Given the description of an element on the screen output the (x, y) to click on. 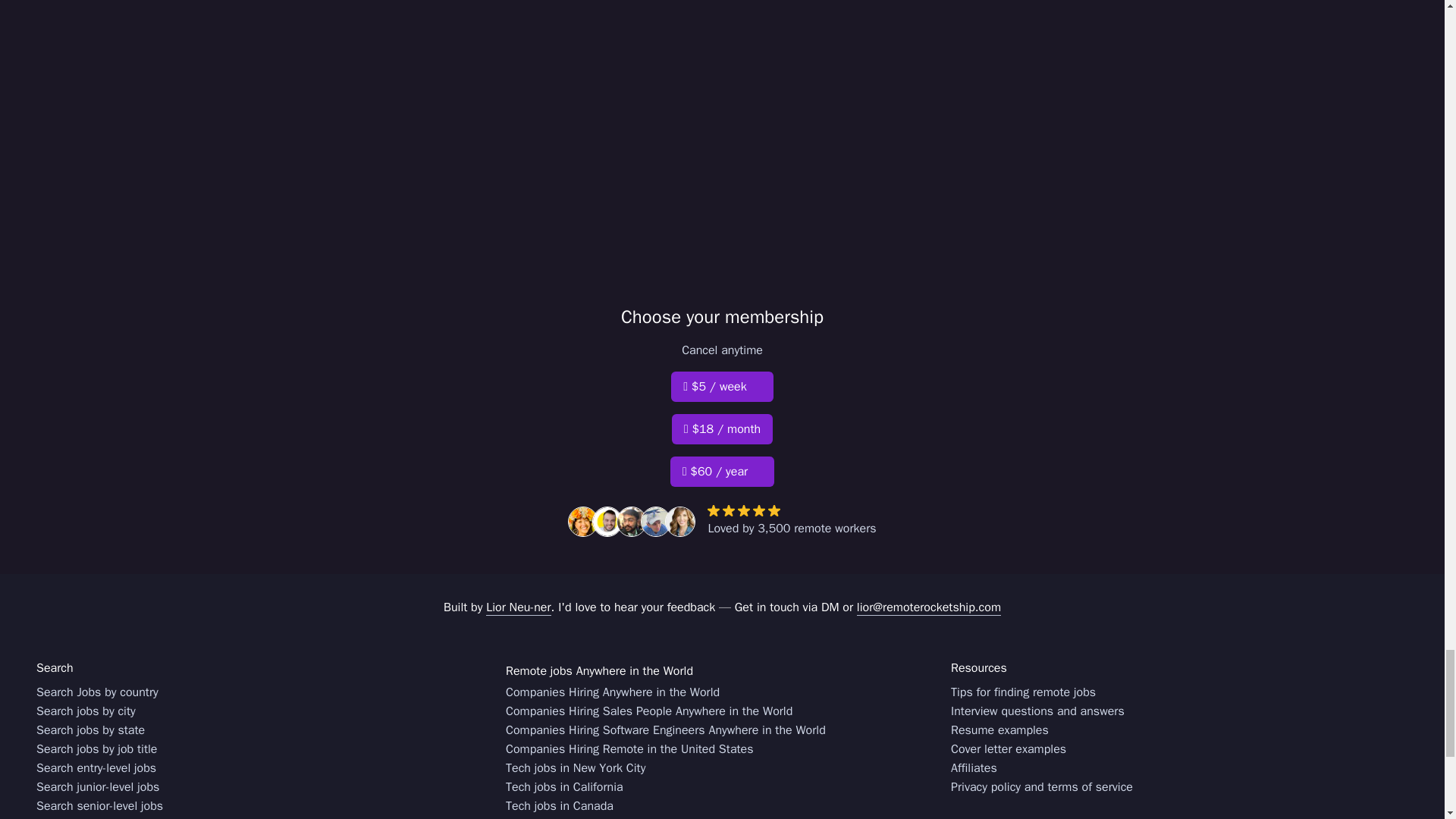
Search jobs by job title (96, 749)
Lior Neu-ner (518, 607)
Search jobs by state (90, 730)
Companies Hiring Anywhere in the World (612, 692)
Search H1B visa jobs (92, 817)
Search junior-level jobs (97, 787)
Search senior-level jobs (99, 805)
Search Jobs by country (97, 692)
Companies Hiring Sales People Anywhere in the World (648, 711)
Search entry-level jobs (95, 768)
